Given the description of an element on the screen output the (x, y) to click on. 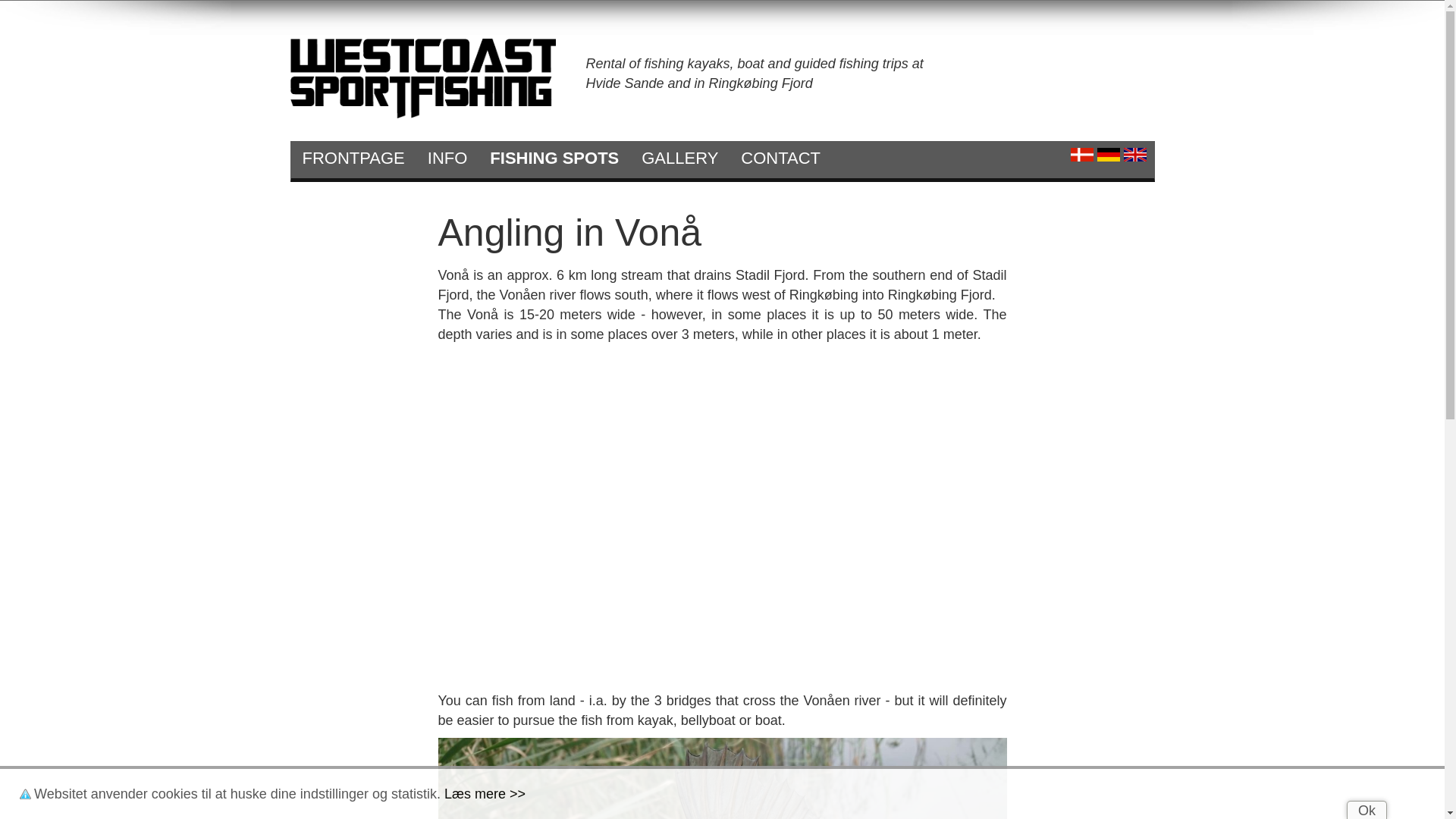
FRONTPAGE (353, 156)
GALLERY (679, 156)
INFO (447, 156)
CONTACT (780, 156)
FISHING SPOTS (554, 156)
